Given the description of an element on the screen output the (x, y) to click on. 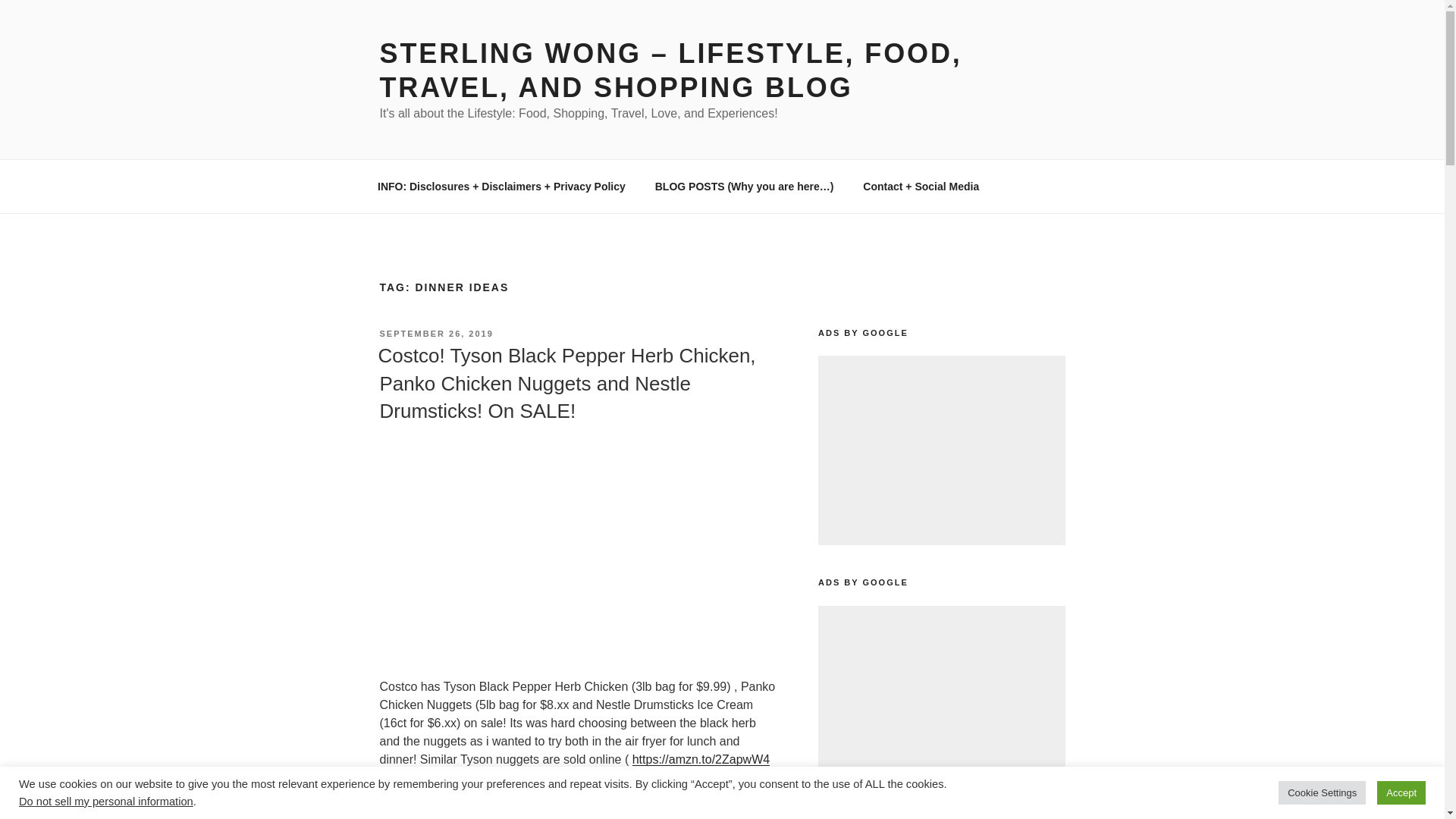
Advertisement (941, 700)
SEPTEMBER 26, 2019 (435, 333)
Advertisement (941, 450)
